Given the description of an element on the screen output the (x, y) to click on. 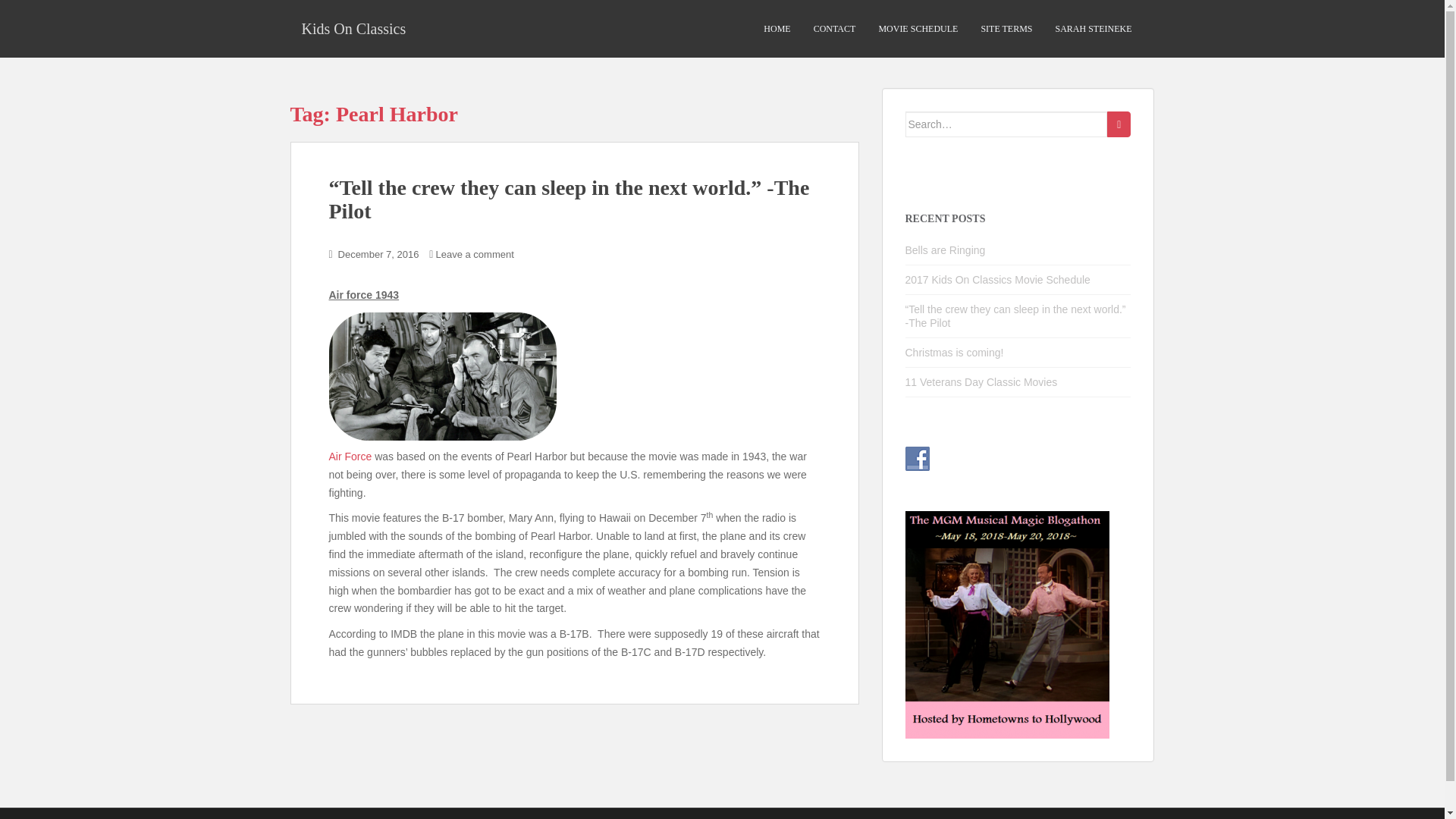
CONTACT (834, 28)
Sarah Steineke (1092, 28)
Kids On Classics (352, 28)
SARAH STEINEKE (1092, 28)
Follow Us on Facebook (917, 458)
Bells are Ringing (945, 250)
SITE TERMS (1006, 28)
Search (1118, 124)
Site Terms (1006, 28)
December 7, 2016 (378, 254)
